Given the description of an element on the screen output the (x, y) to click on. 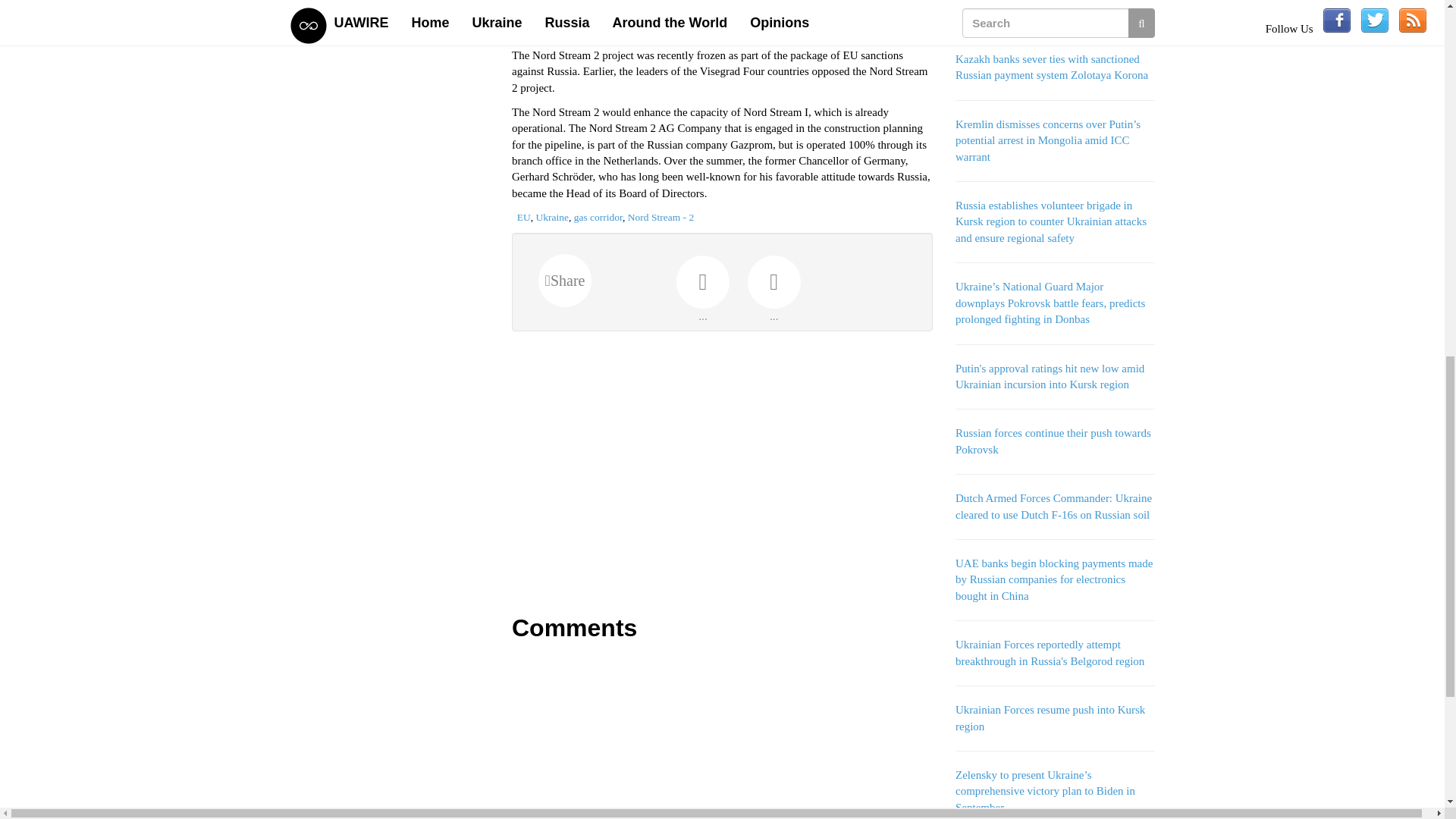
Nord Stream - 2 (660, 216)
Nord Stream 2 (863, 39)
gas corridor (598, 216)
EU (523, 216)
Advertisement (722, 472)
Russian forces continue their push towards Pokrovsk (1053, 440)
